Given the description of an element on the screen output the (x, y) to click on. 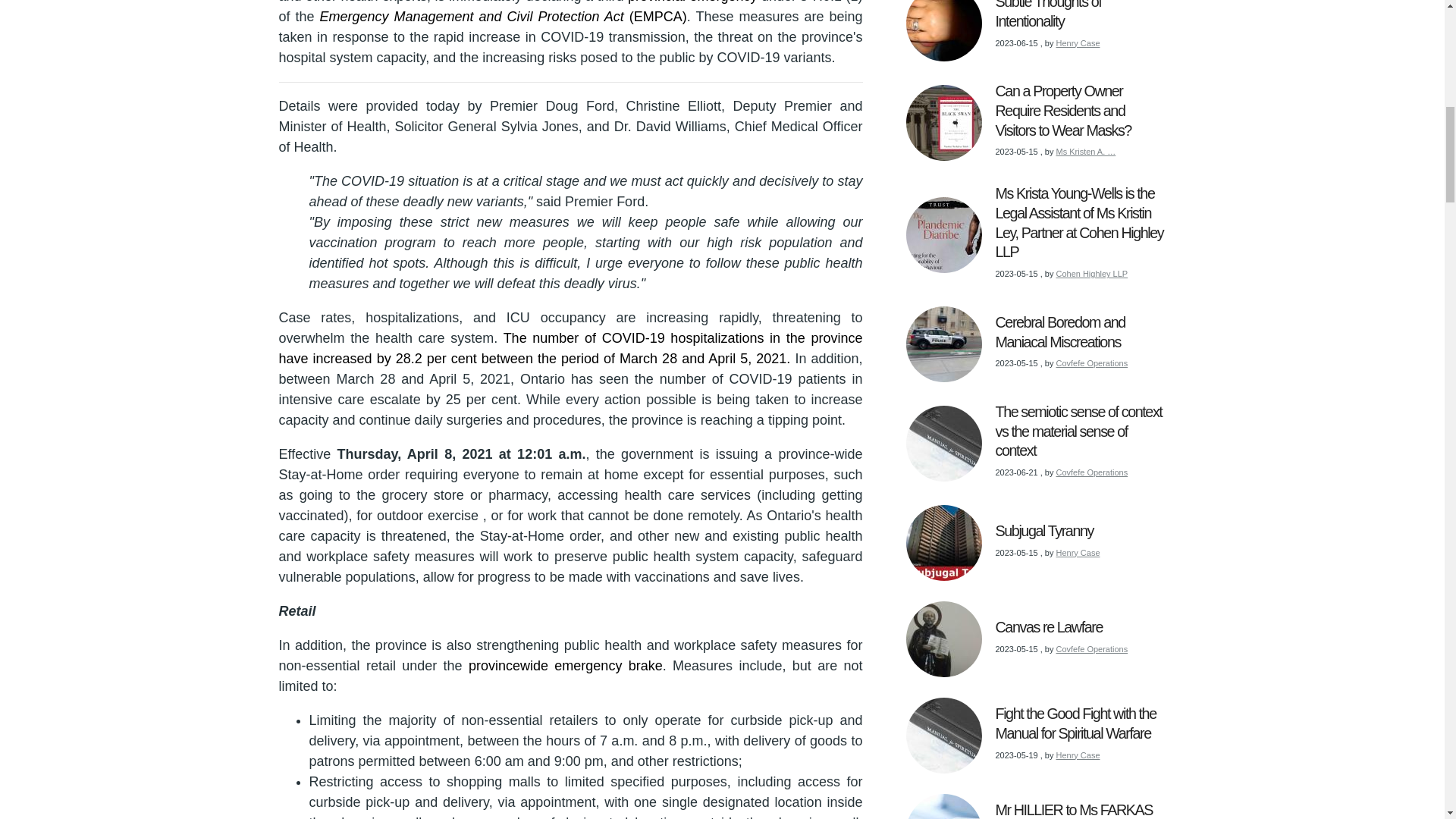
Emergency Management and Civil Protection Act (501, 16)
Fucker is afoot, I do believe... (571, 348)
